Given the description of an element on the screen output the (x, y) to click on. 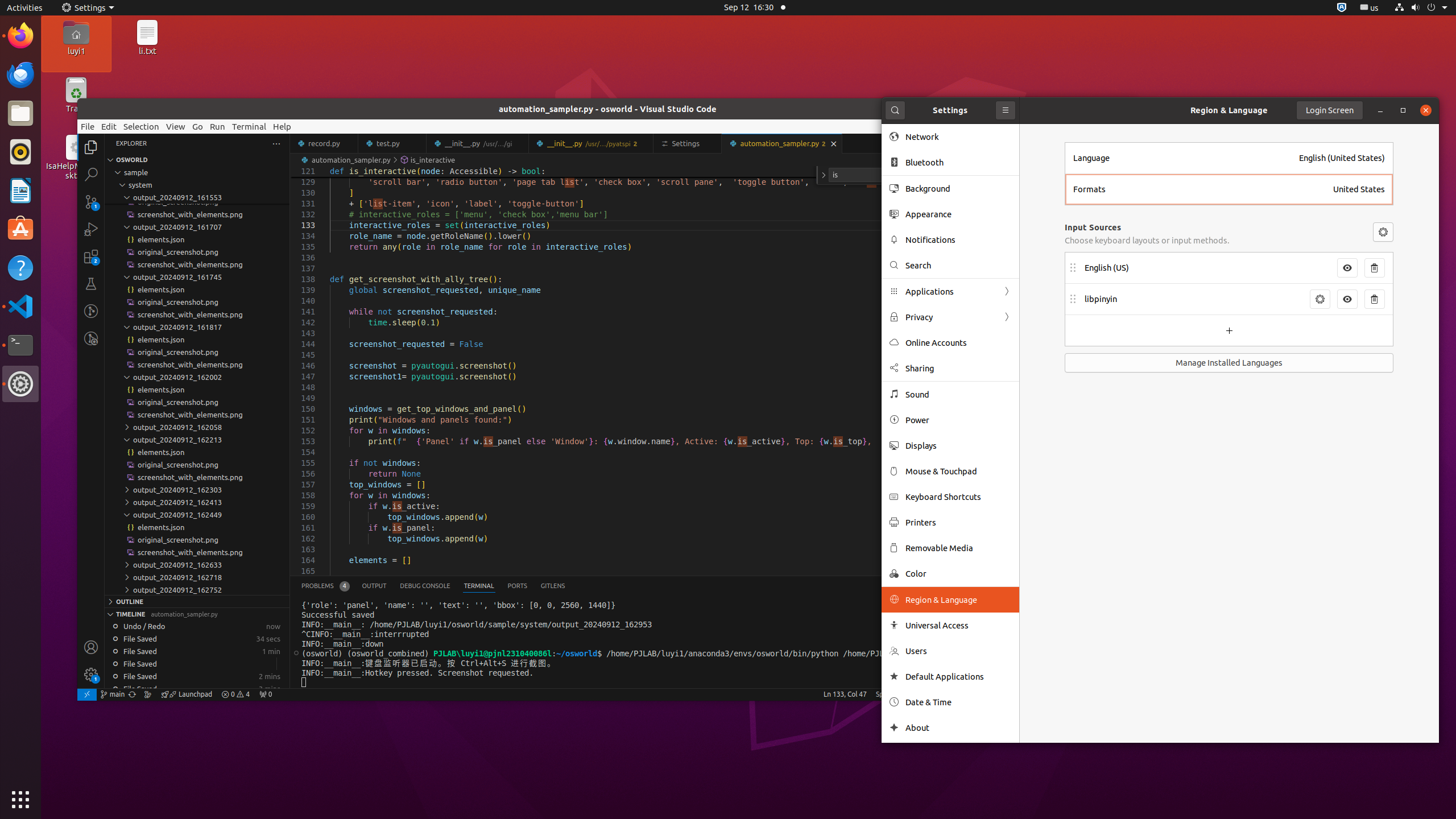
Notifications Element type: label (958, 239)
luyi1 Element type: label (75, 50)
United States Element type: label (1358, 189)
Activities Element type: label (24, 7)
